Given the description of an element on the screen output the (x, y) to click on. 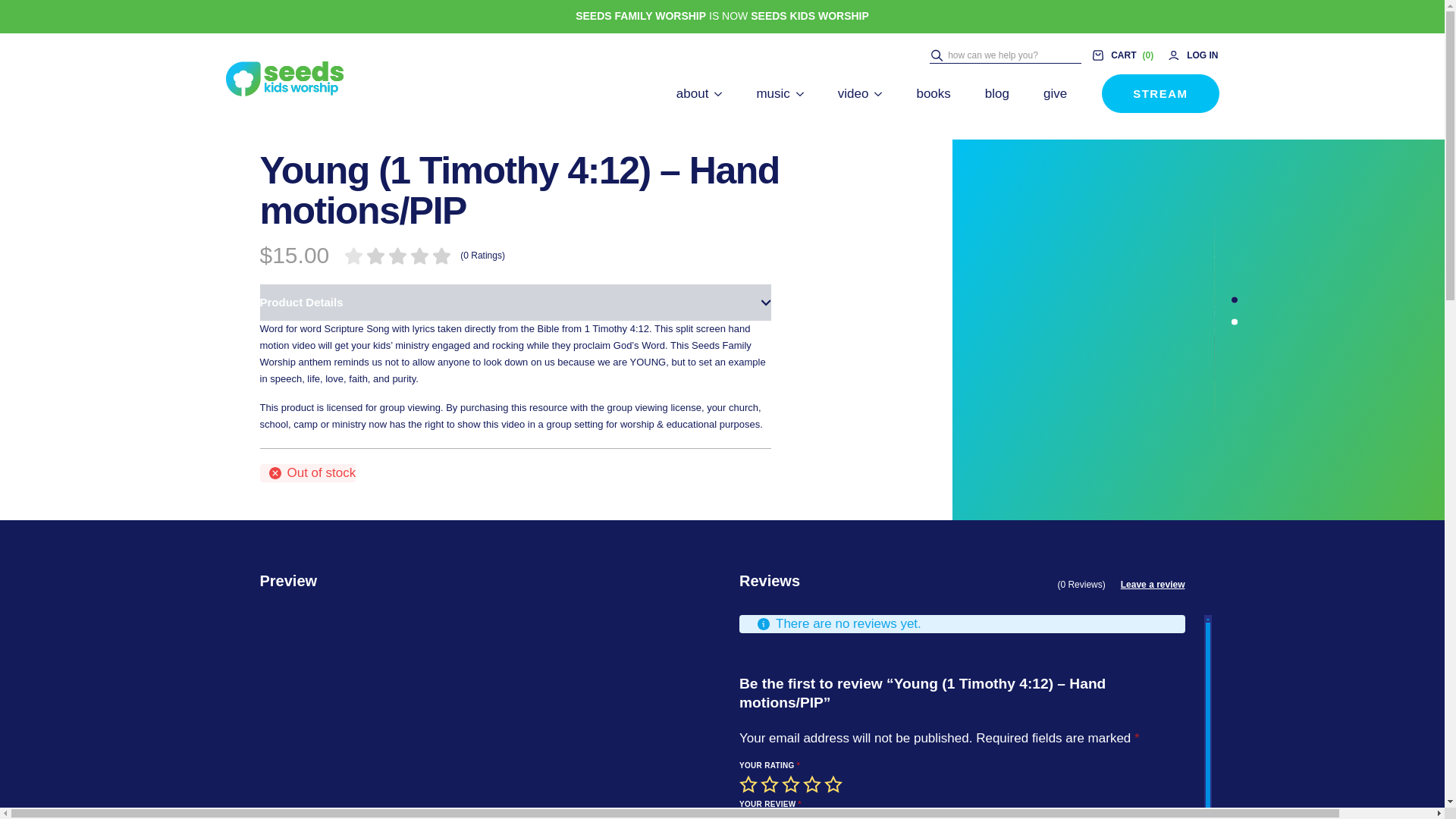
STREAM (1160, 93)
1 (749, 783)
2 (770, 783)
Product Details (514, 302)
SEEDS FAMILY WORSHIP IS NOW SEEDS KIDS WORSHIP (722, 16)
Leave a review (1153, 584)
3 (792, 783)
LOG IN (1191, 55)
4 (813, 783)
books (932, 93)
Young PIP Preview (1031, 311)
0 (1123, 55)
music (772, 93)
about (693, 93)
